Given the description of an element on the screen output the (x, y) to click on. 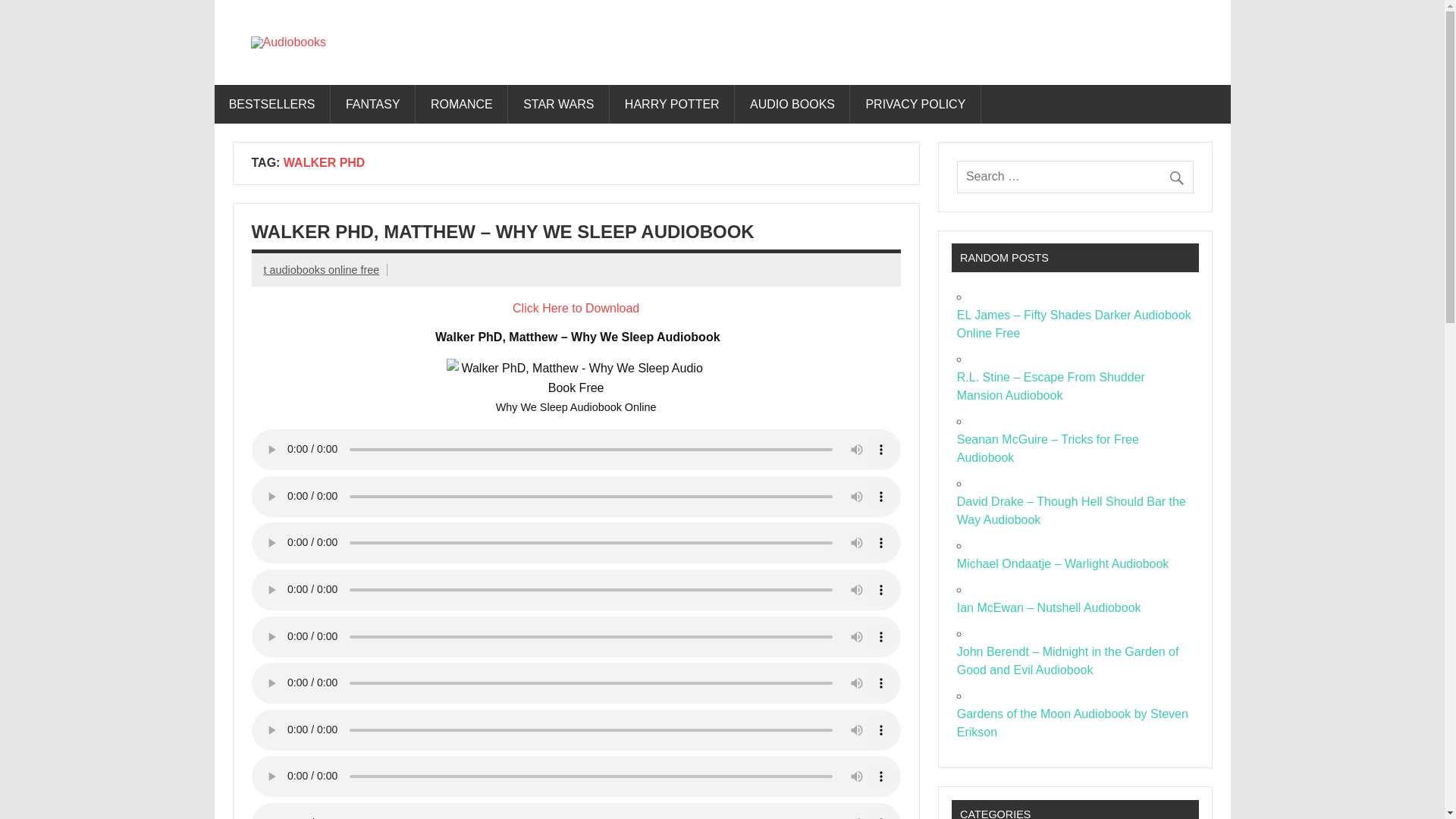
PRIVACY POLICY (914, 104)
BESTSELLERS (272, 104)
Audiobooks (431, 51)
STAR WARS (559, 104)
HARRY POTTER (672, 104)
t audiobooks online free (321, 269)
Click Here to Download (575, 308)
ROMANCE (462, 104)
FANTASY (372, 104)
Gardens of the Moon Audiobook by Steven Erikson (1072, 722)
